Given the description of an element on the screen output the (x, y) to click on. 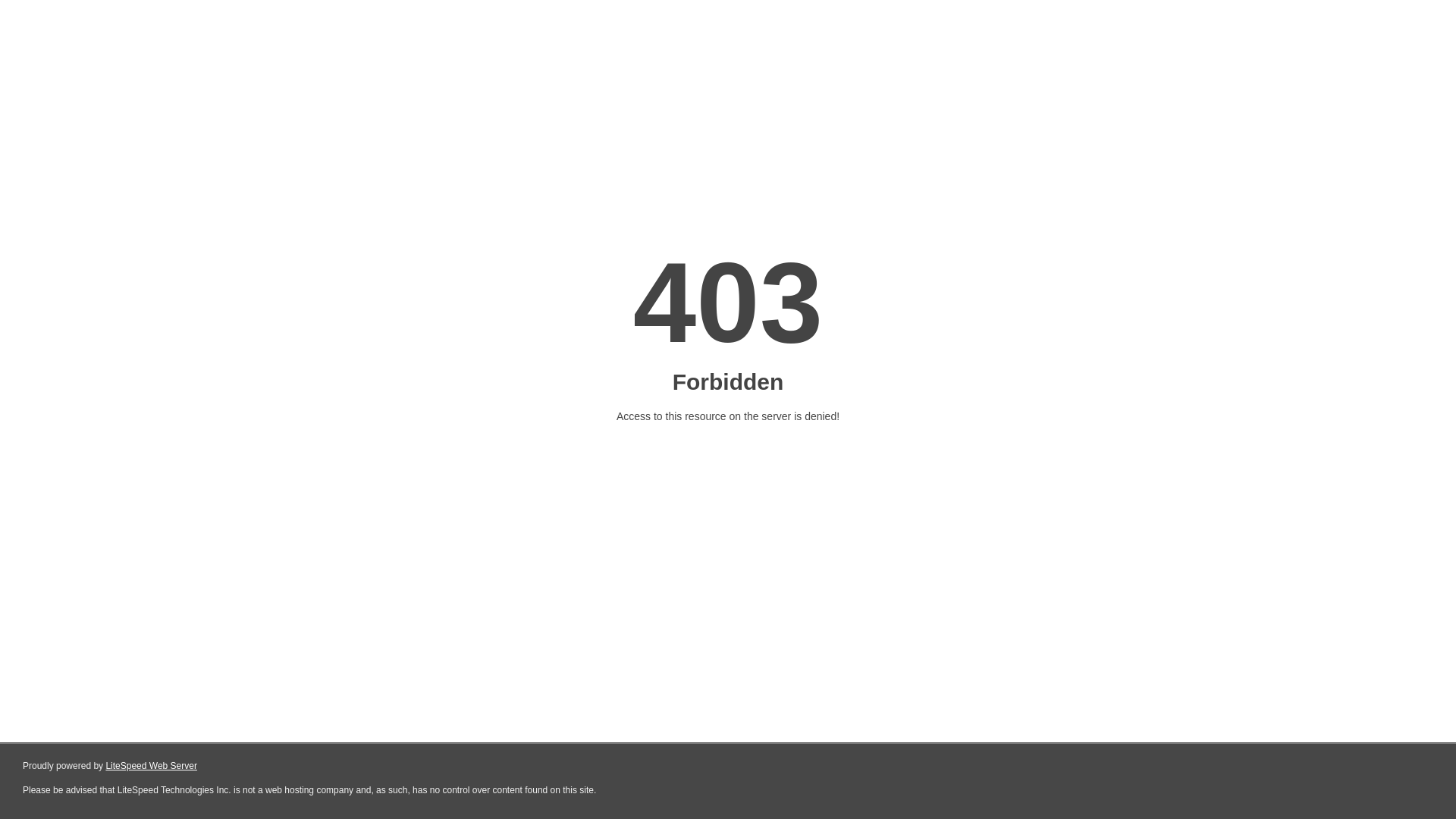
LiteSpeed Web Server Element type: text (151, 765)
